Given the description of an element on the screen output the (x, y) to click on. 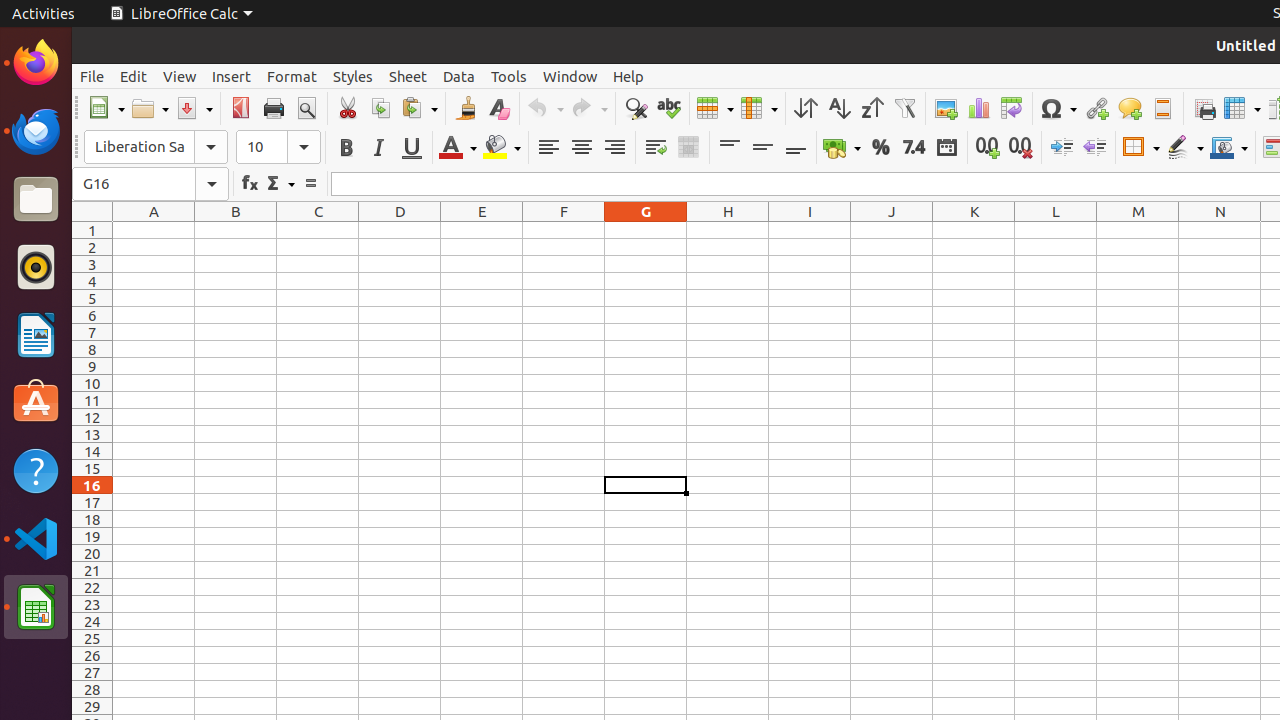
Border Color Element type: push-button (1229, 147)
Delete Decimal Place Element type: push-button (1020, 147)
Insert Element type: menu (231, 76)
Center Vertically Element type: push-button (762, 147)
L1 Element type: table-cell (1056, 230)
